Given the description of an element on the screen output the (x, y) to click on. 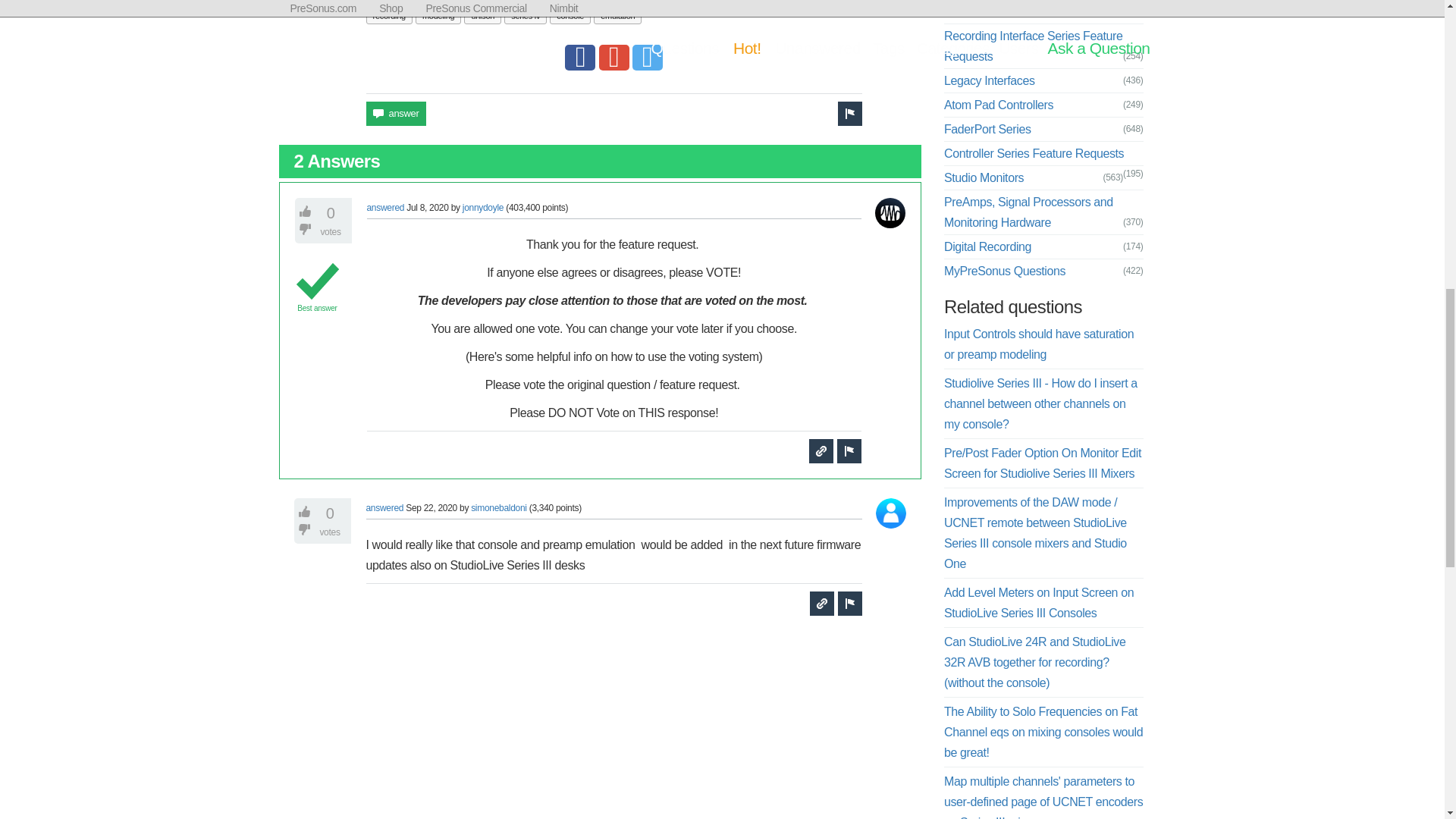
ask related question (821, 603)
Flag this answer as spam or inappropriate (849, 450)
flag (849, 113)
flag (849, 603)
unison (482, 16)
preamps (387, 2)
answer (395, 113)
studiolive series iii (541, 2)
Click to vote down (306, 228)
workflow enhancement (630, 2)
Facebook (579, 57)
series iv (525, 16)
Ask a new question relating to this answer (820, 450)
modeling (437, 16)
ask related question (820, 450)
